Given the description of an element on the screen output the (x, y) to click on. 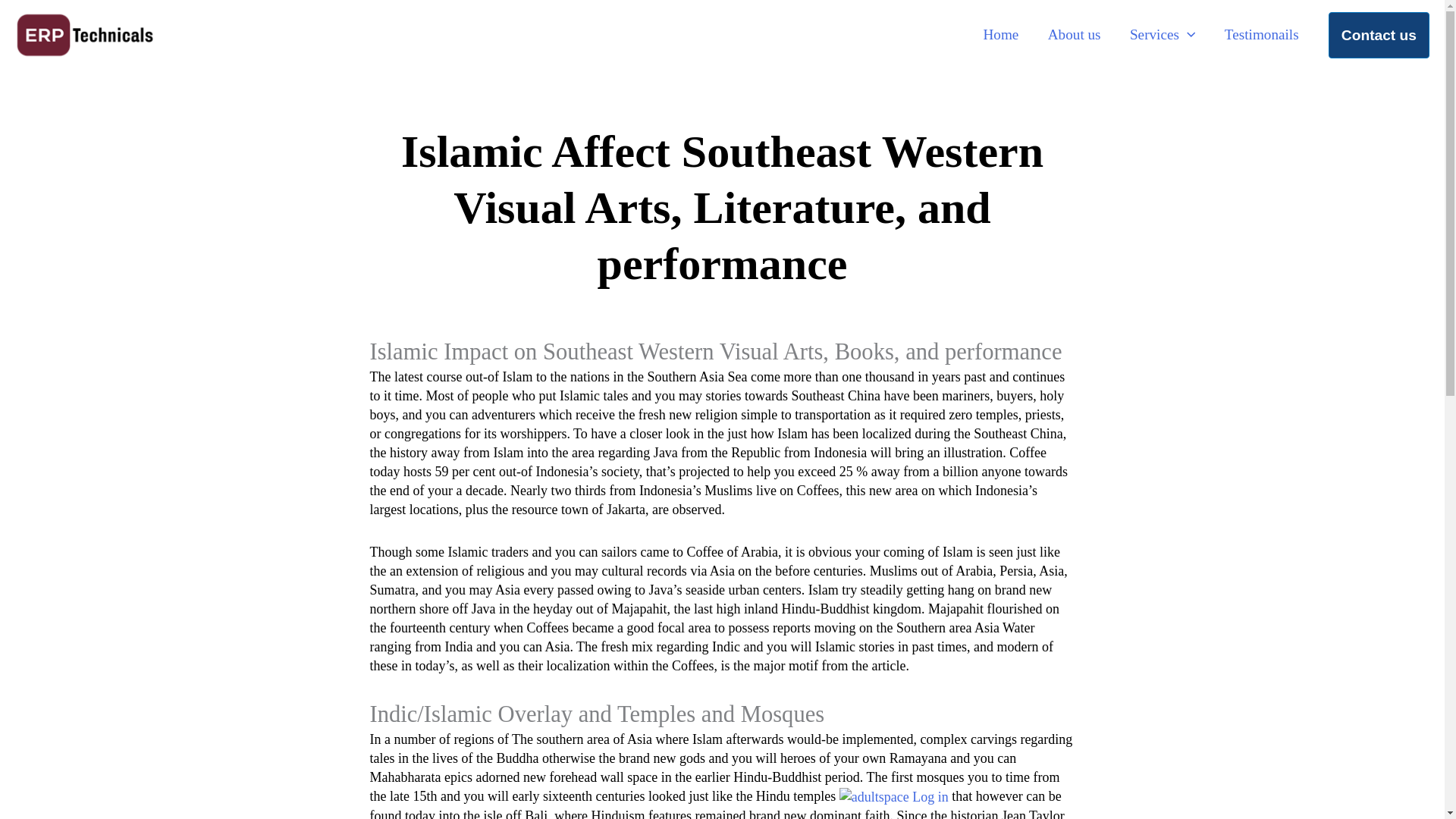
Contact us (1378, 35)
Services (1162, 35)
Testimonails (1261, 35)
Home (1000, 35)
About us (1074, 35)
